Given the description of an element on the screen output the (x, y) to click on. 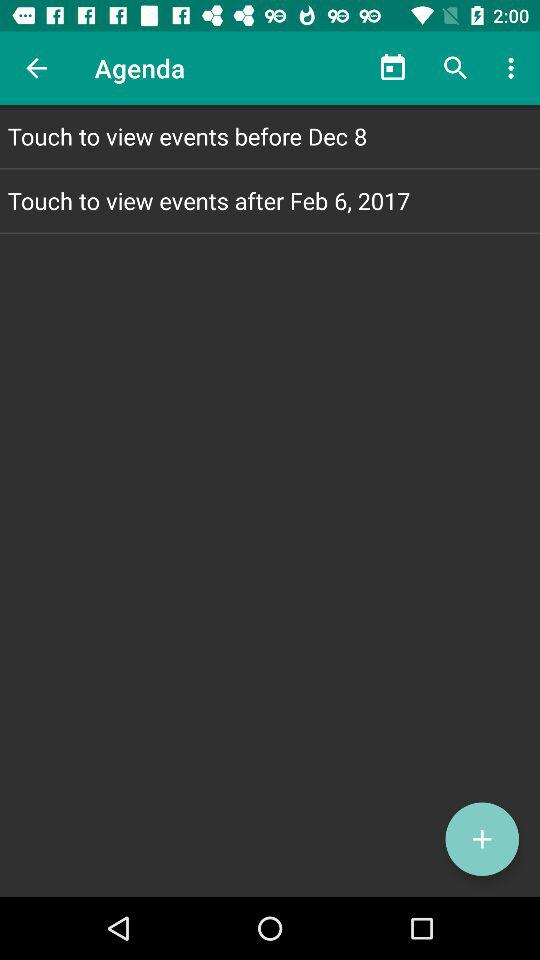
launch the icon below touch to view icon (482, 839)
